Given the description of an element on the screen output the (x, y) to click on. 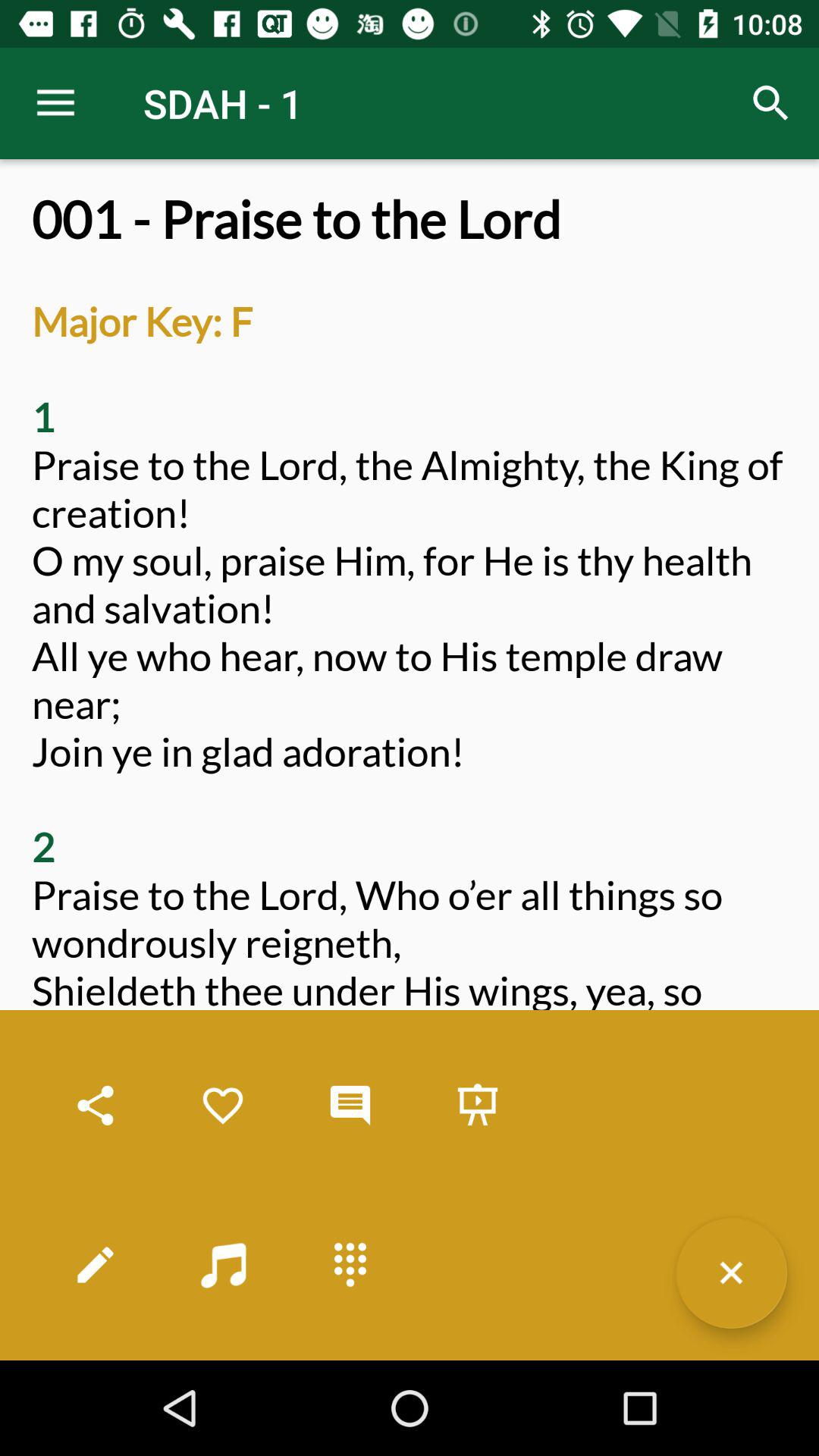
edit lyrics (95, 1264)
